Given the description of an element on the screen output the (x, y) to click on. 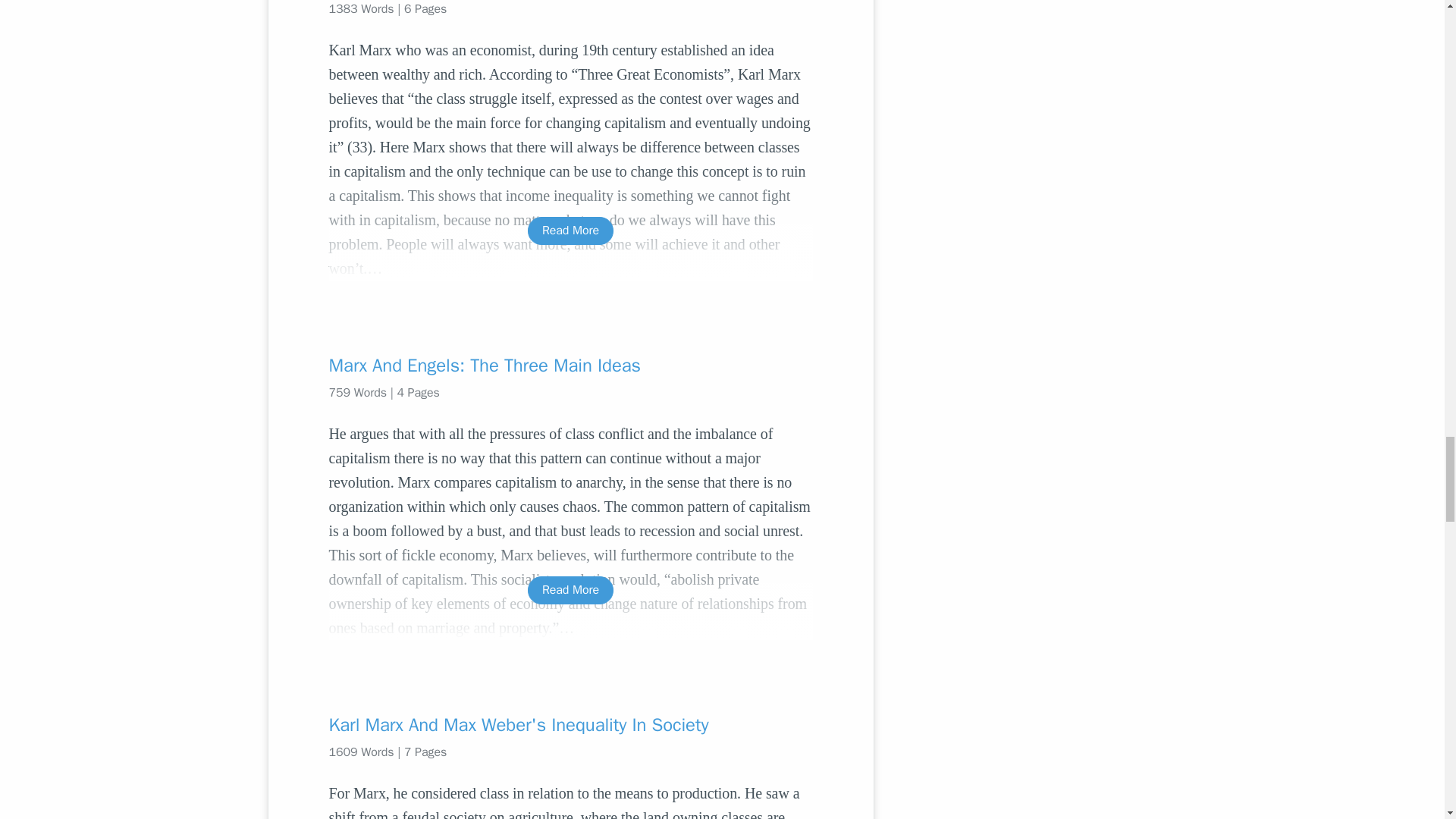
Karl Marx And Max Weber's Inequality In Society (570, 724)
Read More (569, 590)
Marx And Engels: The Three Main Ideas (570, 364)
Read More (569, 230)
